Given the description of an element on the screen output the (x, y) to click on. 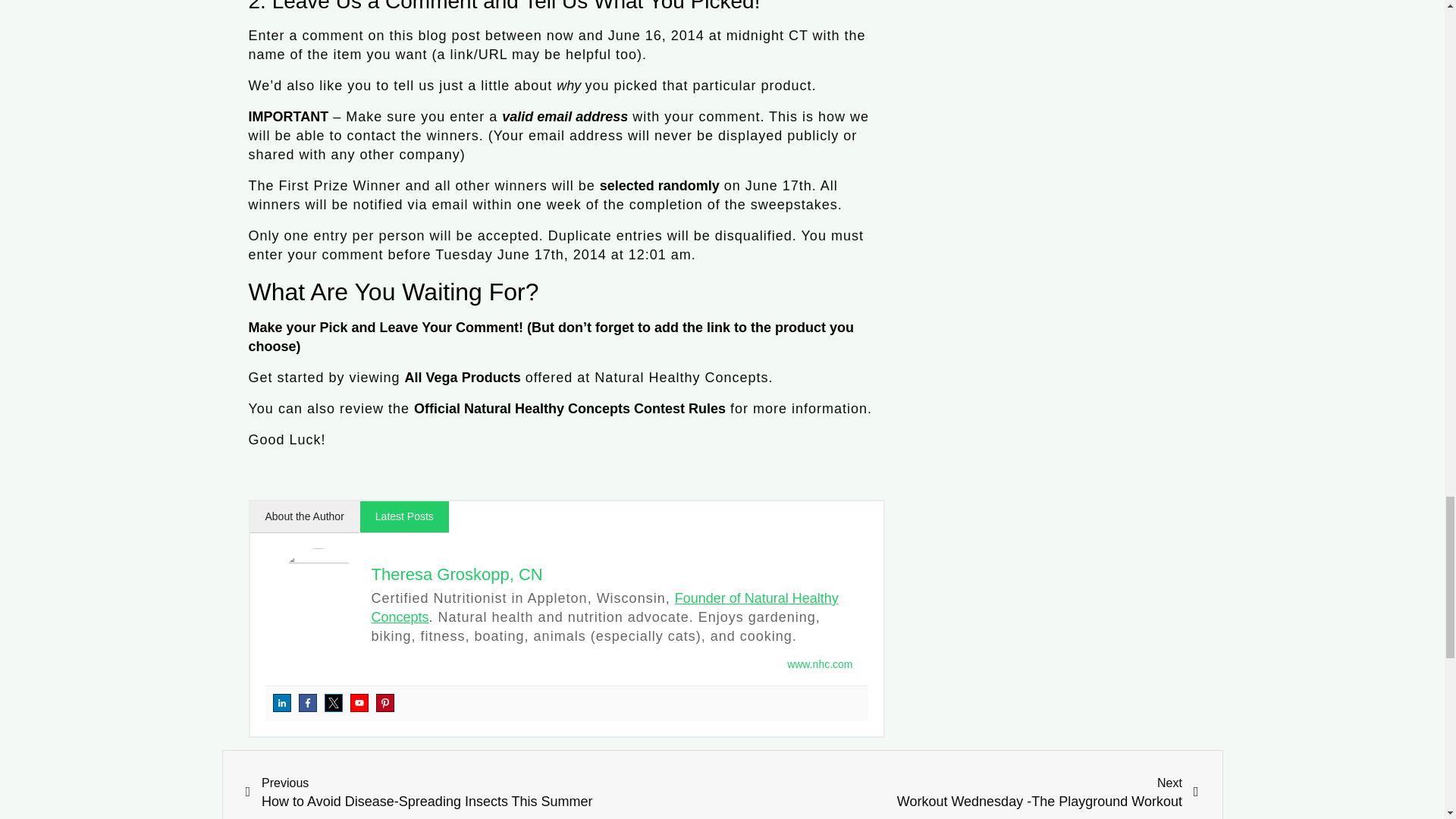
Founder of Natural Healthy Concepts (604, 607)
www.nhc.com (819, 664)
Theresa Groskopp, CN (457, 574)
All Vega Products (462, 377)
Youtube (359, 702)
Pinterest (384, 702)
Official Natural Healthy Concepts Contest Rules (569, 408)
Twitter (333, 702)
Linkedin (282, 702)
Facebook (307, 702)
